Given the description of an element on the screen output the (x, y) to click on. 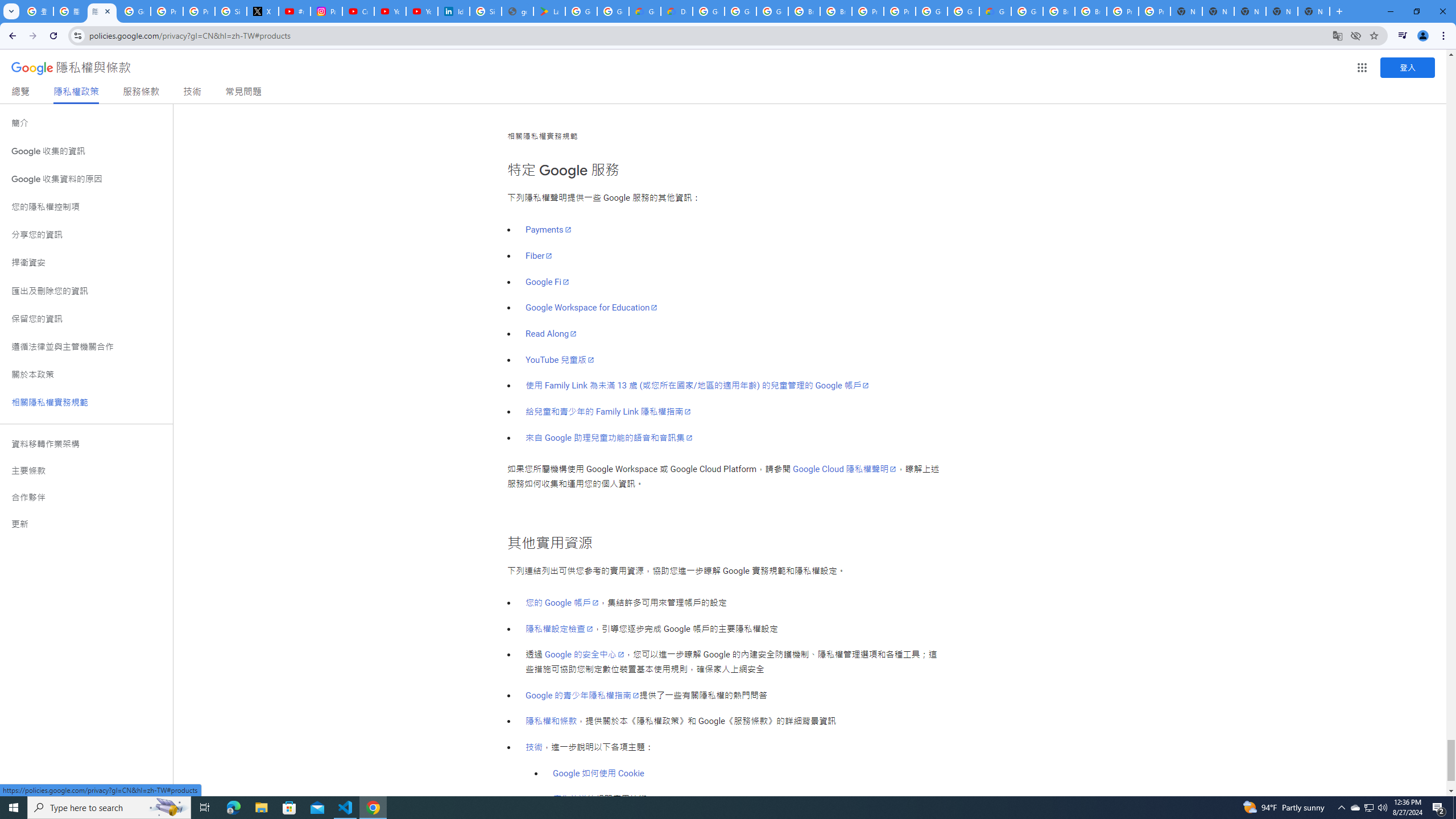
Sign in - Google Accounts (230, 11)
Translate this page (1336, 35)
Privacy Help Center - Policies Help (198, 11)
Last Shelter: Survival - Apps on Google Play (549, 11)
